Given the description of an element on the screen output the (x, y) to click on. 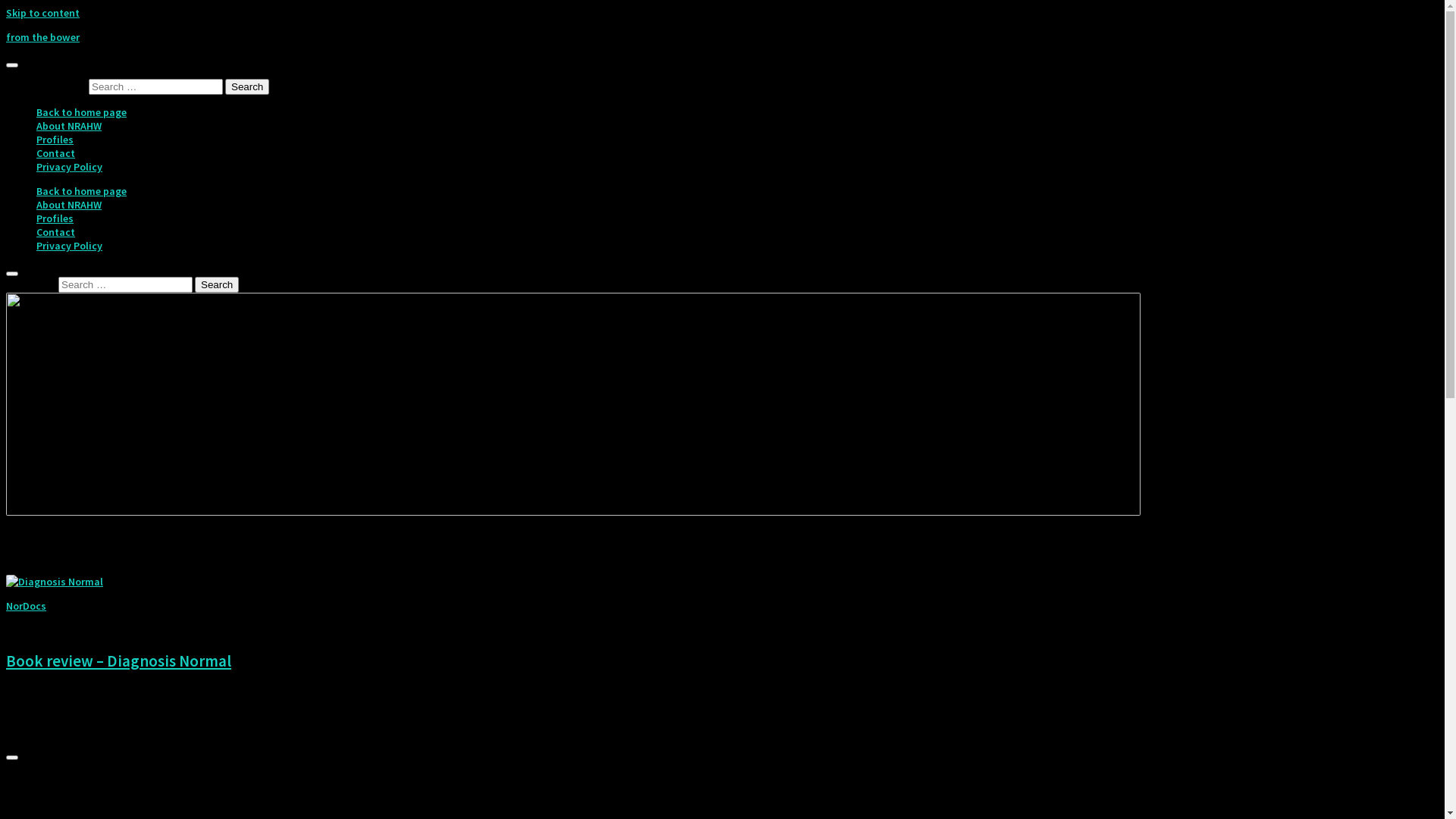
Profiles Element type: text (54, 218)
Contact Element type: text (55, 231)
Contact Element type: text (55, 153)
Search Element type: text (247, 86)
Menu Element type: hover (12, 64)
Expand Sidebar Element type: hover (12, 757)
Privacy Policy Element type: text (69, 166)
About NRAHW Element type: text (68, 125)
Privacy Policy Element type: text (69, 245)
Search Element type: text (216, 284)
Back to home page Element type: text (81, 190)
Back to home page Element type: text (81, 112)
About NRAHW Element type: text (68, 204)
Profiles Element type: text (54, 139)
NorDocs Element type: text (26, 605)
from the bower Element type: text (42, 36)
Skip to content Element type: text (42, 12)
